Given the description of an element on the screen output the (x, y) to click on. 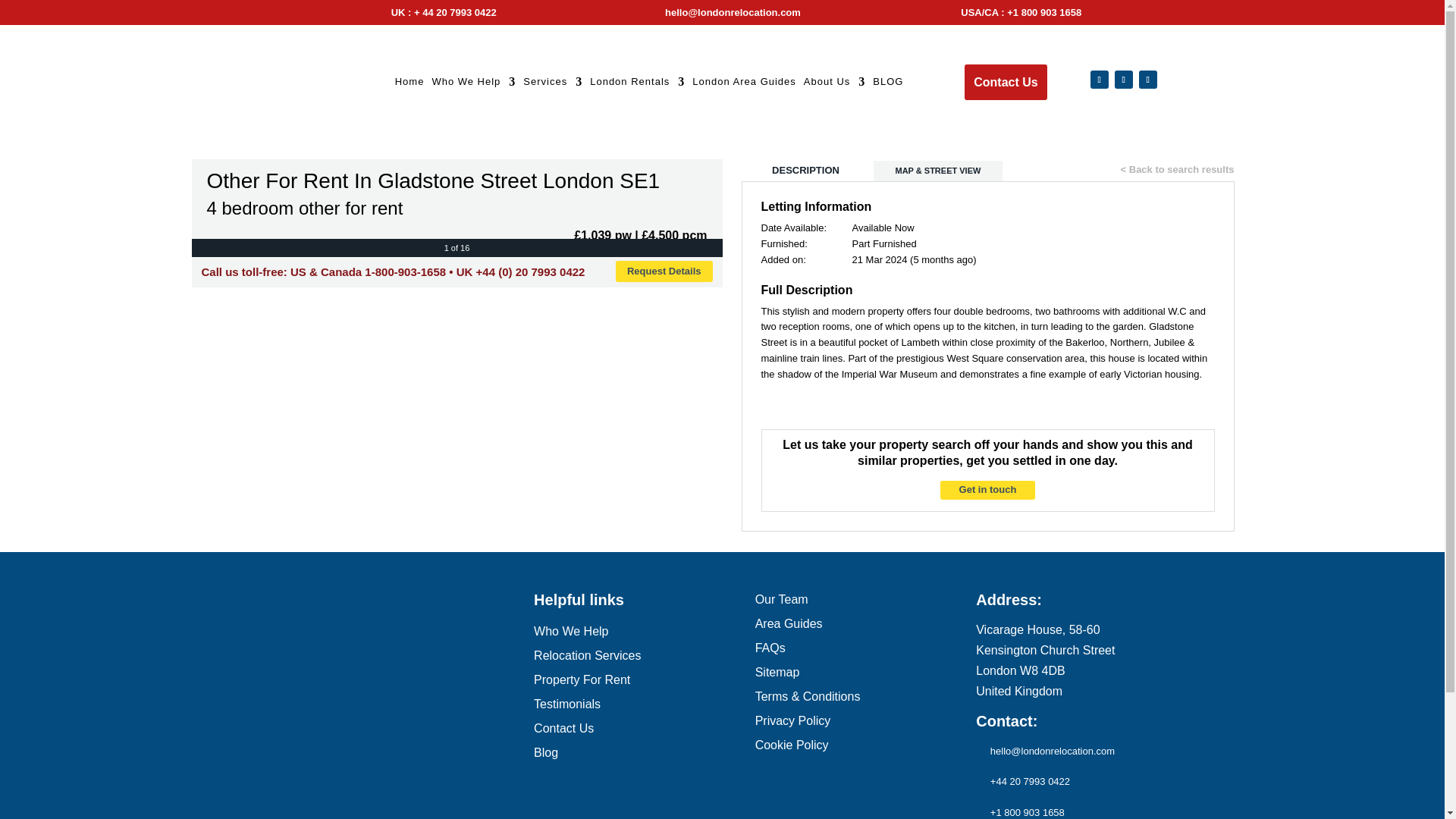
Contact Us (1004, 81)
About Us (833, 85)
dffs (378, 12)
Logo-Dark (293, 81)
sfefz (946, 11)
London Area Guides (744, 85)
Services (552, 85)
Follow on X (1123, 79)
Home (409, 85)
